Given the description of an element on the screen output the (x, y) to click on. 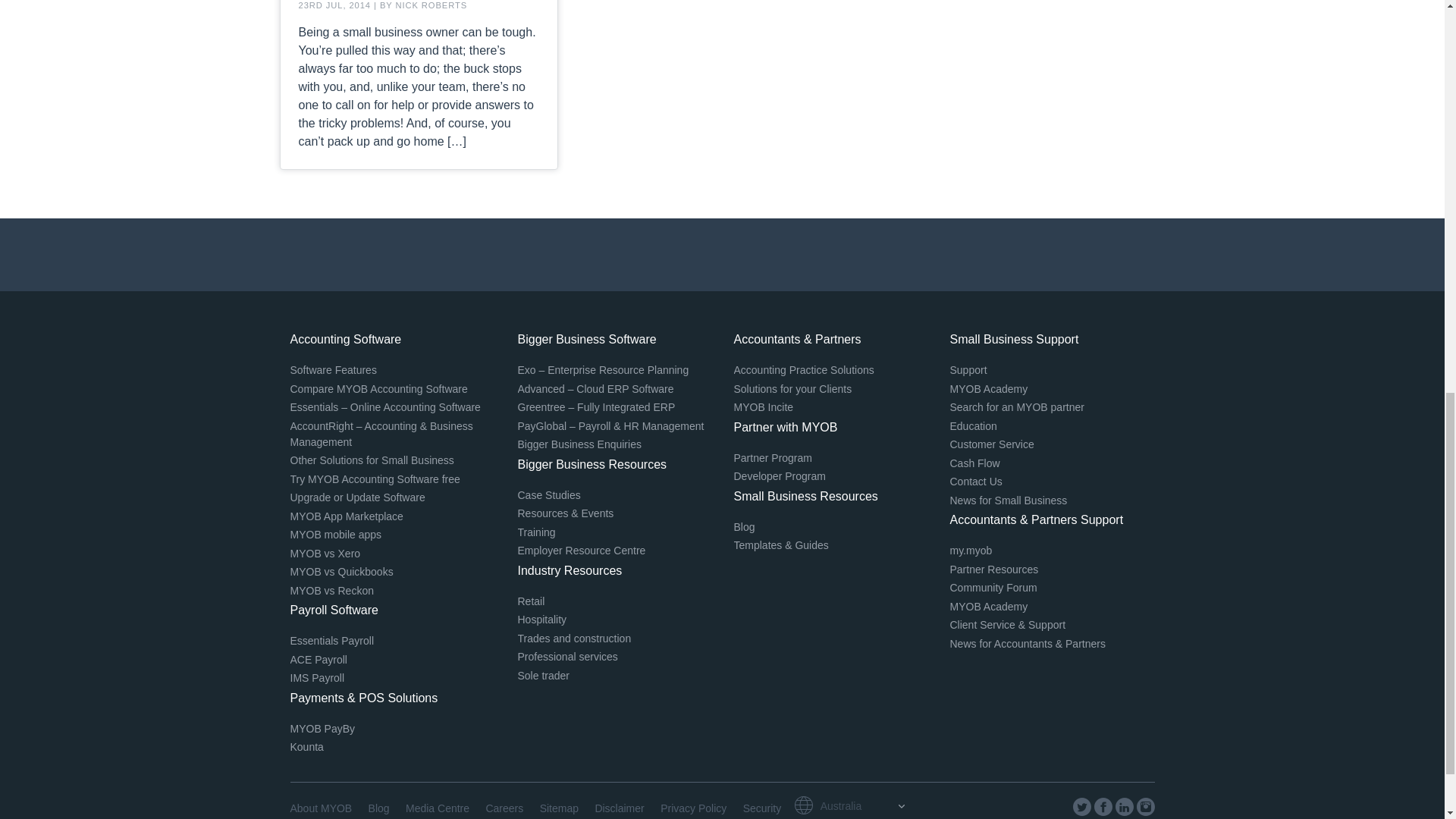
Upgrade or Update Software (357, 497)
Try MYOB Accounting Software free (374, 479)
MYOB vs Quickbooks (341, 571)
MYOB mobile apps (335, 534)
MYOB App Marketplace (346, 515)
Compare MYOB Accounting Software (378, 387)
IMS Payroll (316, 677)
Essentials Payroll (331, 640)
Accounting Software (345, 338)
MYOB vs Xero (324, 553)
